Given the description of an element on the screen output the (x, y) to click on. 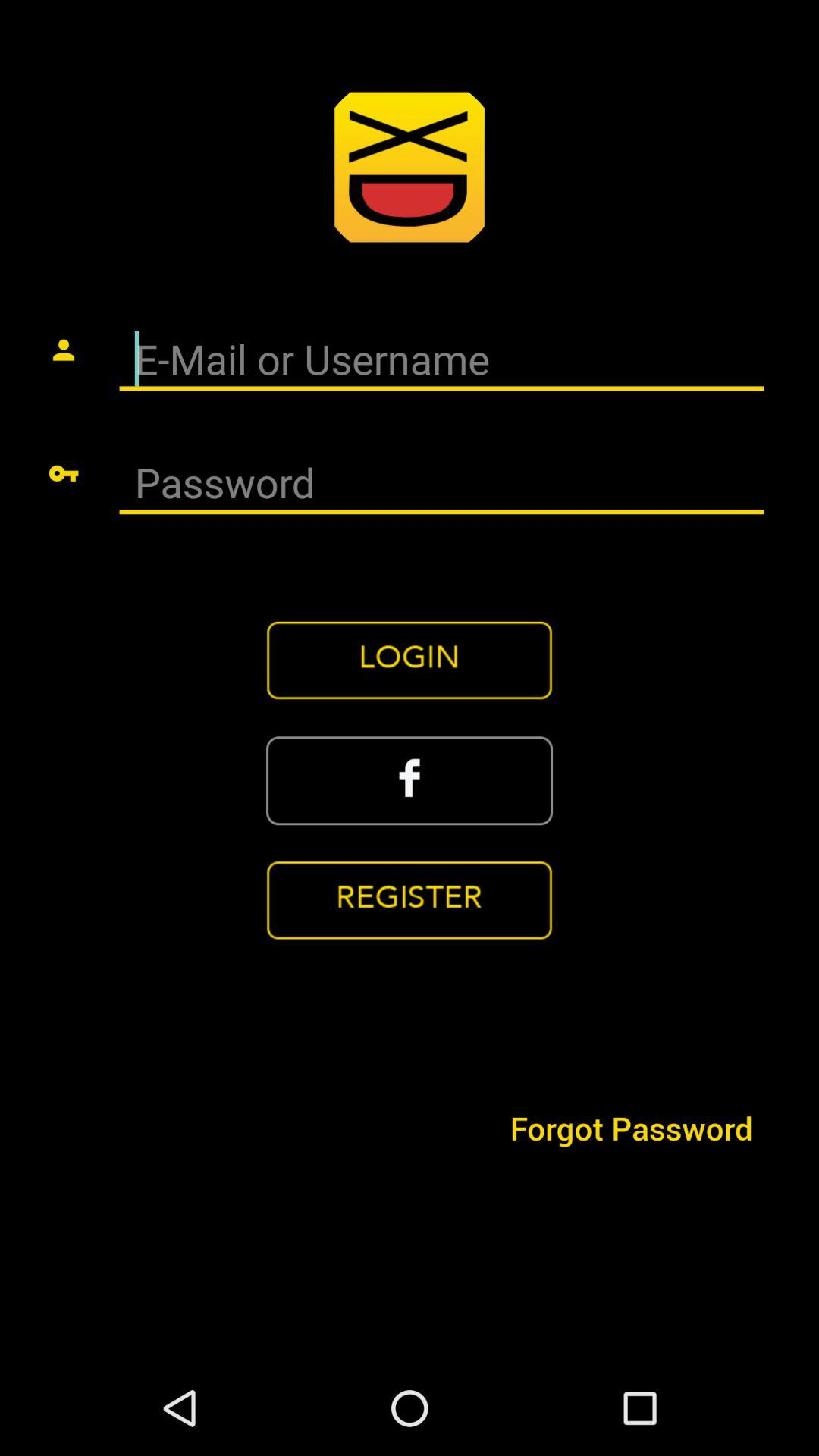
open icon above forgot password (409, 900)
